Given the description of an element on the screen output the (x, y) to click on. 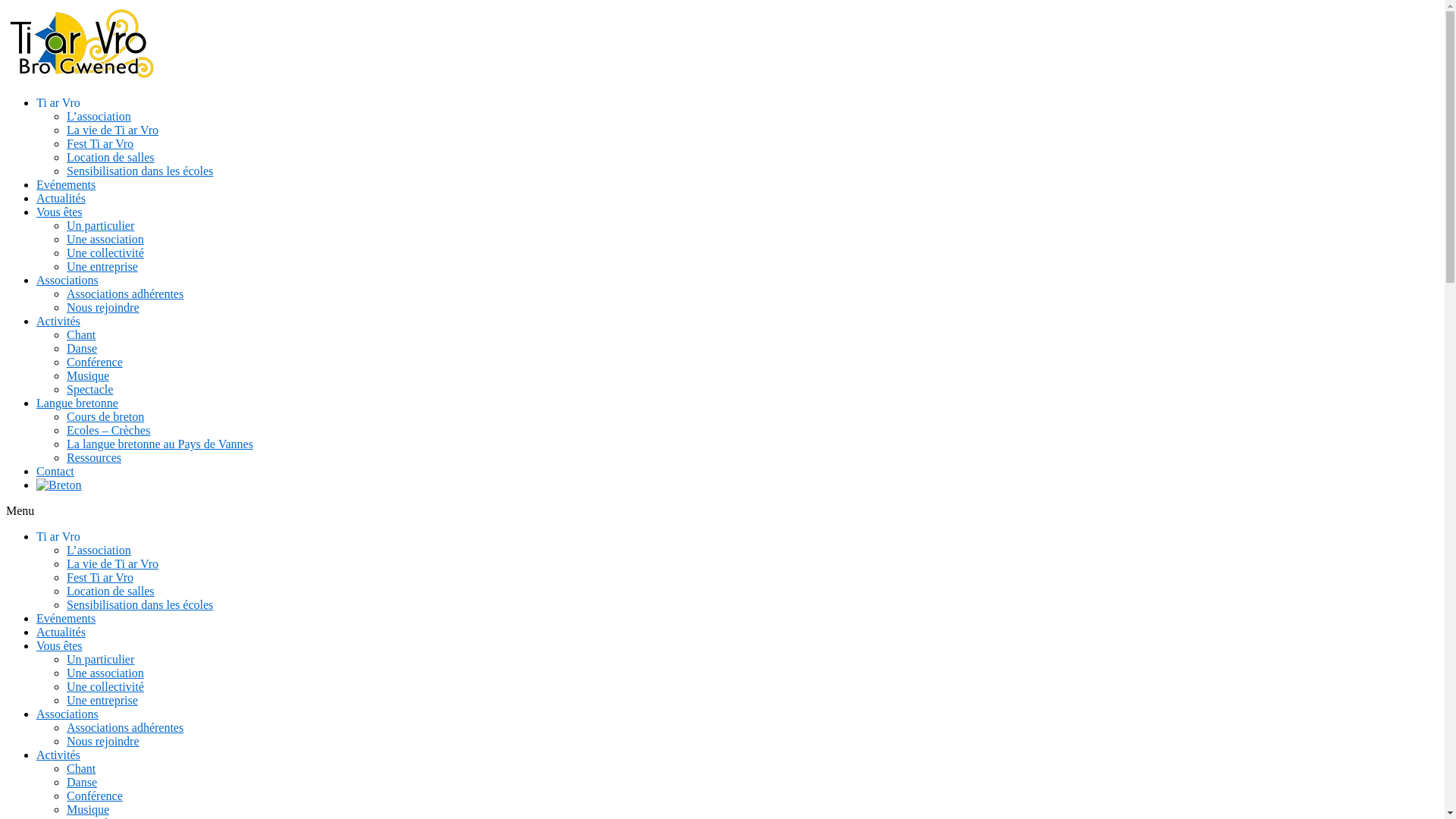
Associations Element type: text (67, 279)
Une association Element type: text (105, 672)
Location de salles Element type: text (110, 156)
Chant Element type: text (80, 768)
Un particulier Element type: text (100, 658)
Spectacle Element type: text (89, 388)
Danse Element type: text (81, 781)
Un particulier Element type: text (100, 225)
Cours de breton Element type: text (105, 416)
Associations Element type: text (67, 713)
Une association Element type: text (105, 238)
Danse Element type: text (81, 348)
Chant Element type: text (80, 334)
Musique Element type: text (87, 809)
Une entreprise Element type: text (102, 699)
La vie de Ti ar Vro Element type: text (112, 129)
Ressources Element type: text (93, 457)
Nous rejoindre Element type: text (102, 740)
Nous rejoindre Element type: text (102, 307)
Location de salles Element type: text (110, 590)
Musique Element type: text (87, 375)
La langue bretonne au Pays de Vannes Element type: text (159, 443)
Fest Ti ar Vro Element type: text (99, 577)
Ti ar Vro Element type: text (58, 536)
Une entreprise Element type: text (102, 266)
Fest Ti ar Vro Element type: text (99, 143)
Contact Element type: text (55, 470)
La vie de Ti ar Vro Element type: text (112, 563)
Langue bretonne Element type: text (77, 402)
Ti ar Vro Element type: text (58, 102)
